Given the description of an element on the screen output the (x, y) to click on. 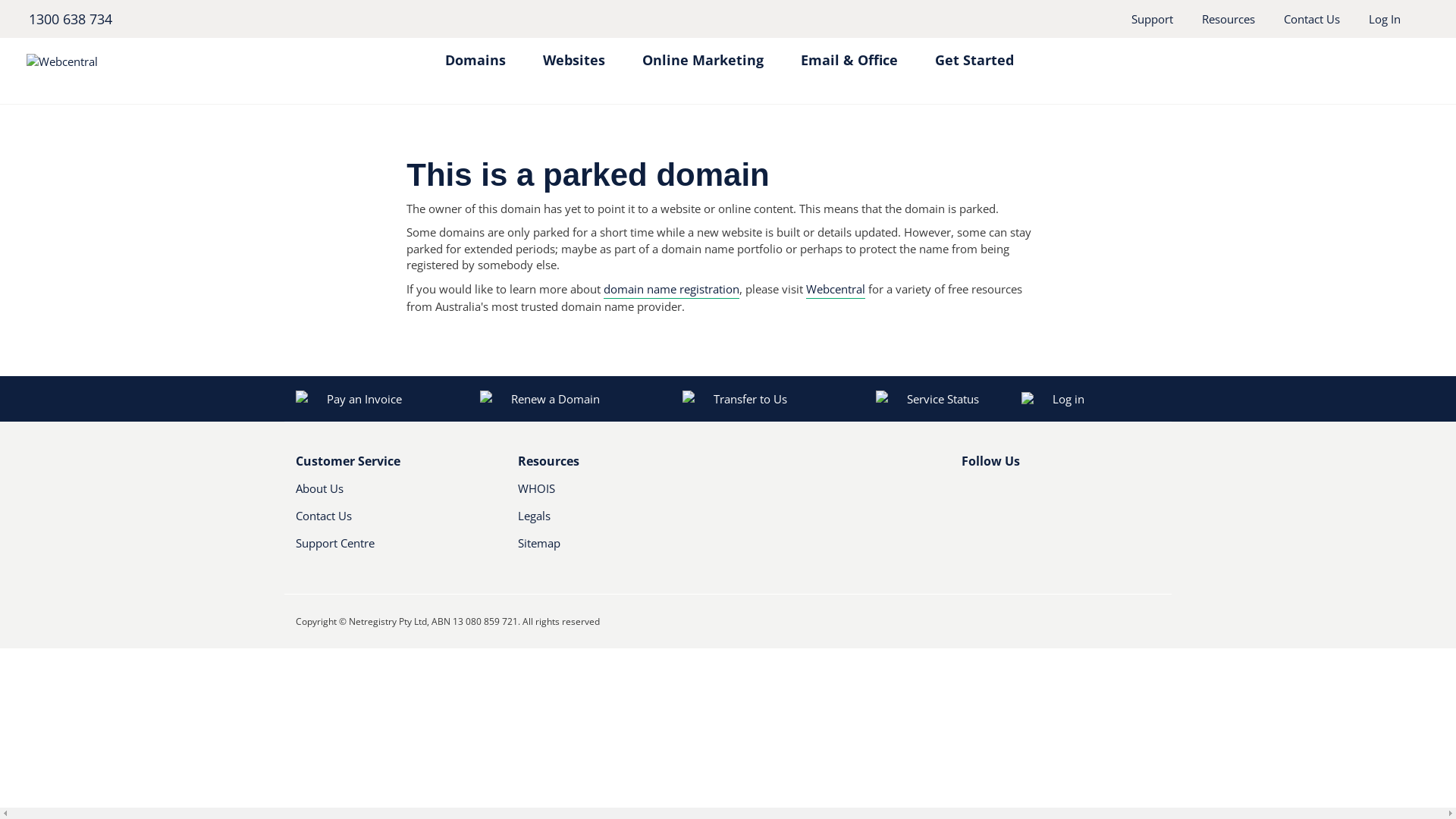
Contact Us Element type: text (1311, 18)
Log in Element type: text (1111, 398)
Online Marketing Element type: text (701, 52)
Sitemap Element type: text (616, 548)
Facebook Element type: hover (970, 494)
Support Element type: text (1152, 18)
Email & Office Element type: text (848, 52)
Support Centre Element type: text (395, 548)
Get Started Element type: text (973, 52)
Resources Element type: text (1228, 18)
Youtube Element type: hover (1019, 494)
Contact Us Element type: text (379, 521)
Transfer to Us Element type: text (734, 398)
RSS Element type: hover (1045, 494)
Renew a Domain Element type: text (540, 398)
Pay an Invoice Element type: text (348, 398)
WHOIS Element type: text (601, 494)
Service Status Element type: text (927, 398)
Log In Element type: text (1384, 18)
About Us Element type: text (379, 494)
Webcentral Element type: hover (163, 60)
Domains Element type: text (474, 52)
1300 638 734 Element type: text (69, 18)
Legals Element type: text (601, 521)
Twitter Element type: hover (993, 494)
Websites Element type: text (573, 52)
Webcentral Element type: text (835, 289)
domain name registration Element type: text (671, 289)
